Given the description of an element on the screen output the (x, y) to click on. 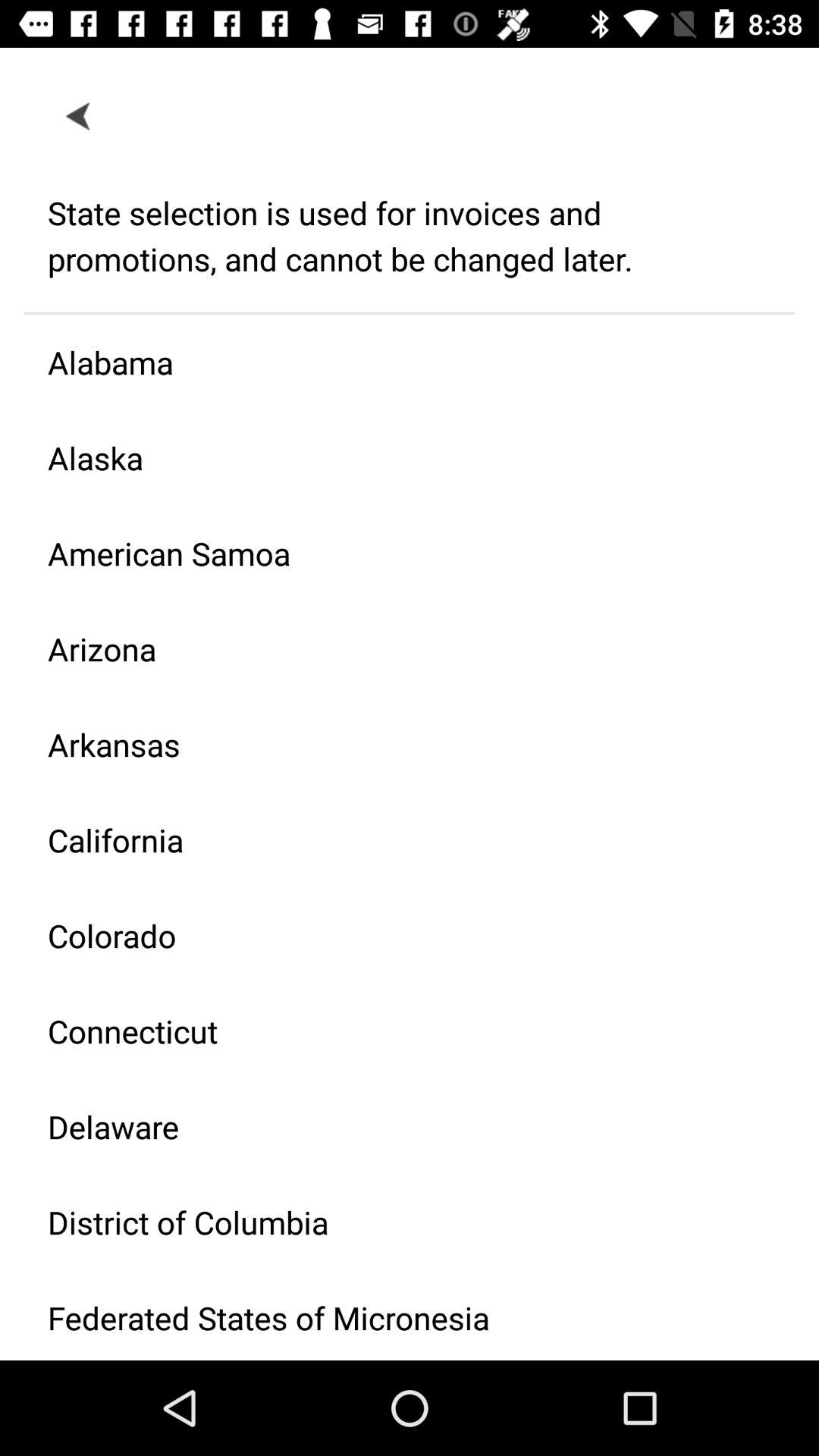
scroll to arkansas (397, 744)
